Given the description of an element on the screen output the (x, y) to click on. 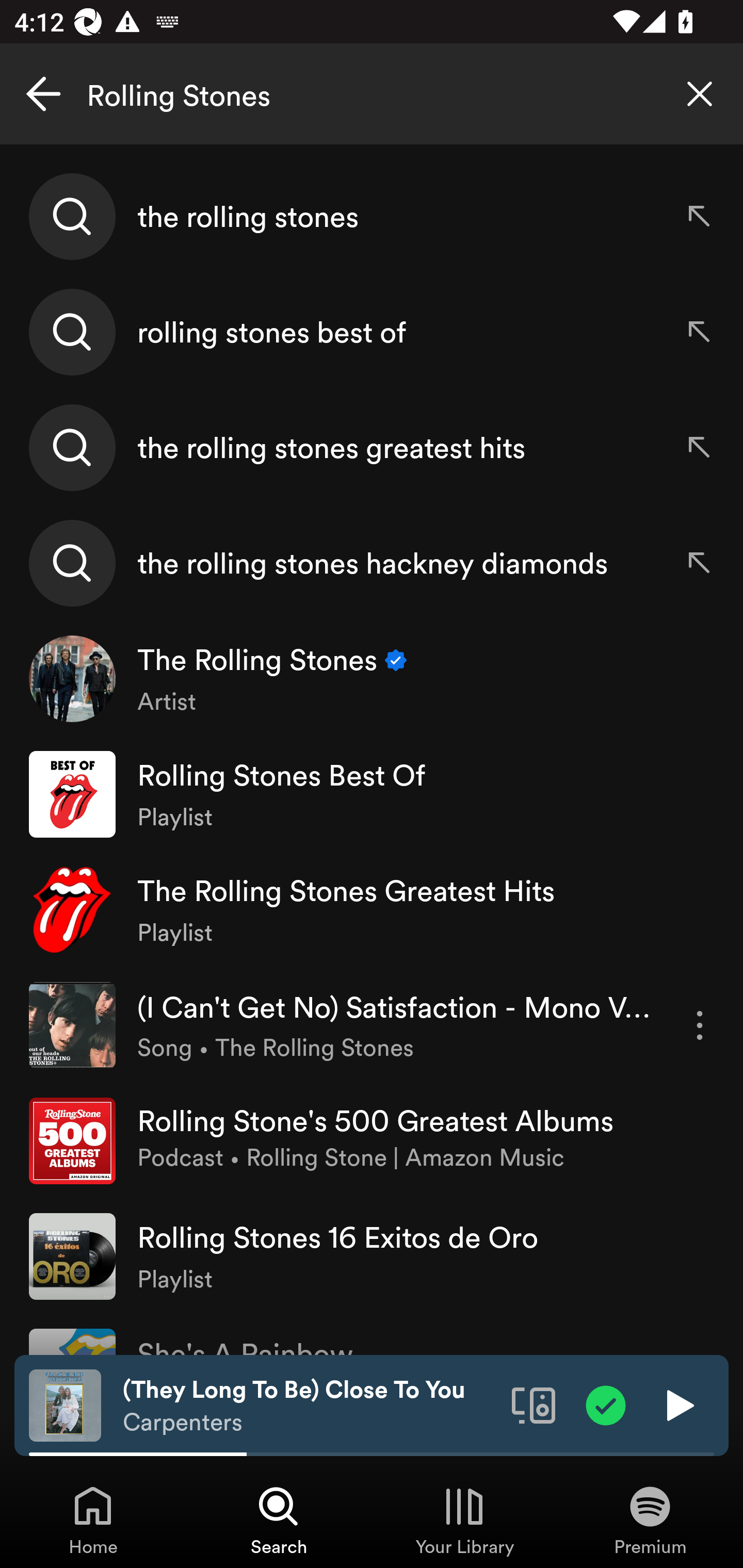
Rolling Stones (371, 93)
Cancel (43, 93)
Clear search query (699, 93)
the rolling stones (371, 216)
rolling stones best of (371, 332)
the rolling stones greatest hits (371, 447)
the rolling stones hackney diamonds (371, 562)
The Rolling Stones Verified Artist (371, 678)
Rolling Stones Best Of Playlist (371, 793)
The Rolling Stones Greatest Hits Playlist (371, 909)
Rolling Stones 16 Exitos de Oro Playlist (371, 1255)
(They Long To Be) Close To You Carpenters (309, 1405)
The cover art of the currently playing track (64, 1404)
Connect to a device. Opens the devices menu (533, 1404)
Item added (605, 1404)
Play (677, 1404)
Home, Tab 1 of 4 Home Home (92, 1519)
Search, Tab 2 of 4 Search Search (278, 1519)
Your Library, Tab 3 of 4 Your Library Your Library (464, 1519)
Premium, Tab 4 of 4 Premium Premium (650, 1519)
